Given the description of an element on the screen output the (x, y) to click on. 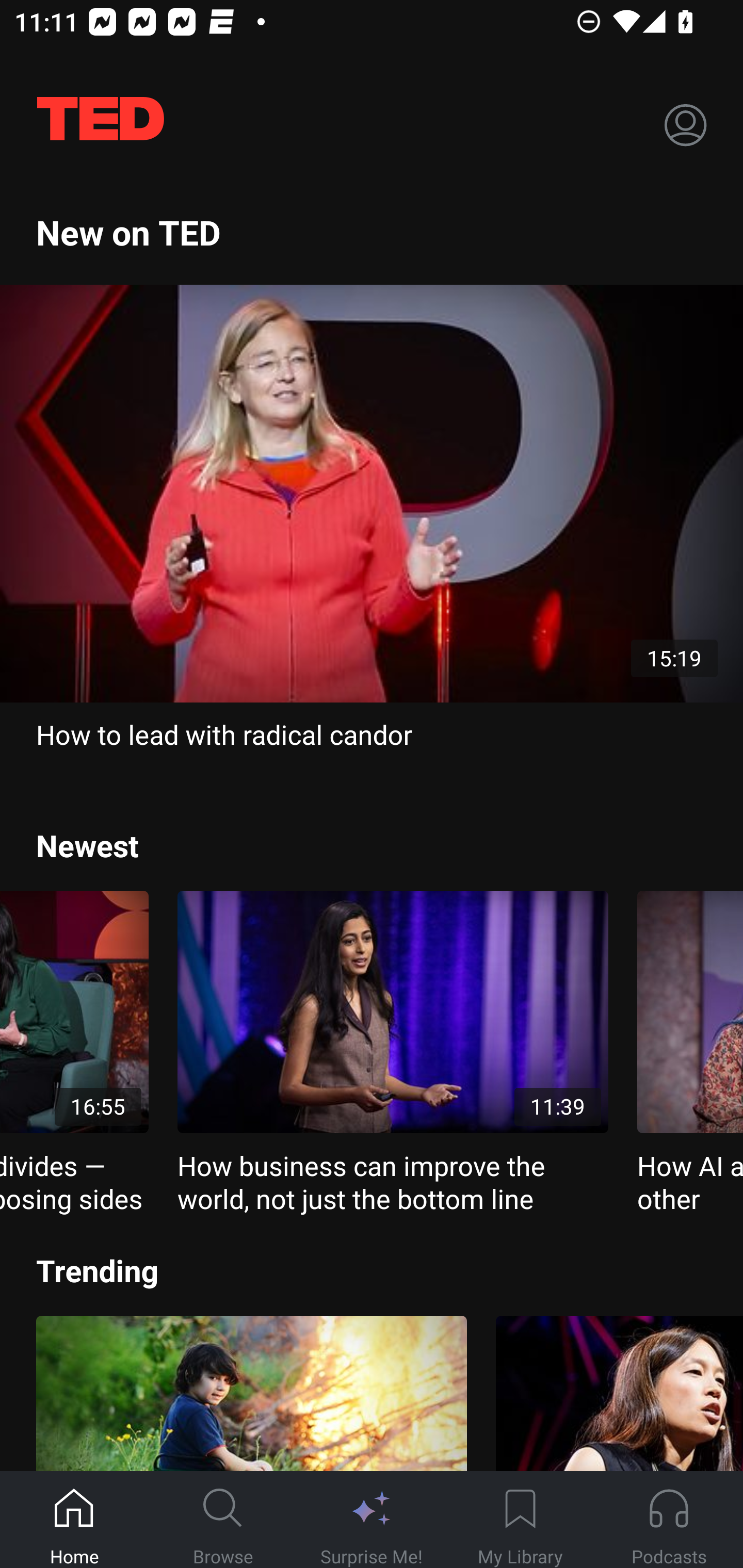
Home (74, 1520)
Browse (222, 1520)
Surprise Me! (371, 1520)
My Library (519, 1520)
Podcasts (668, 1520)
